Given the description of an element on the screen output the (x, y) to click on. 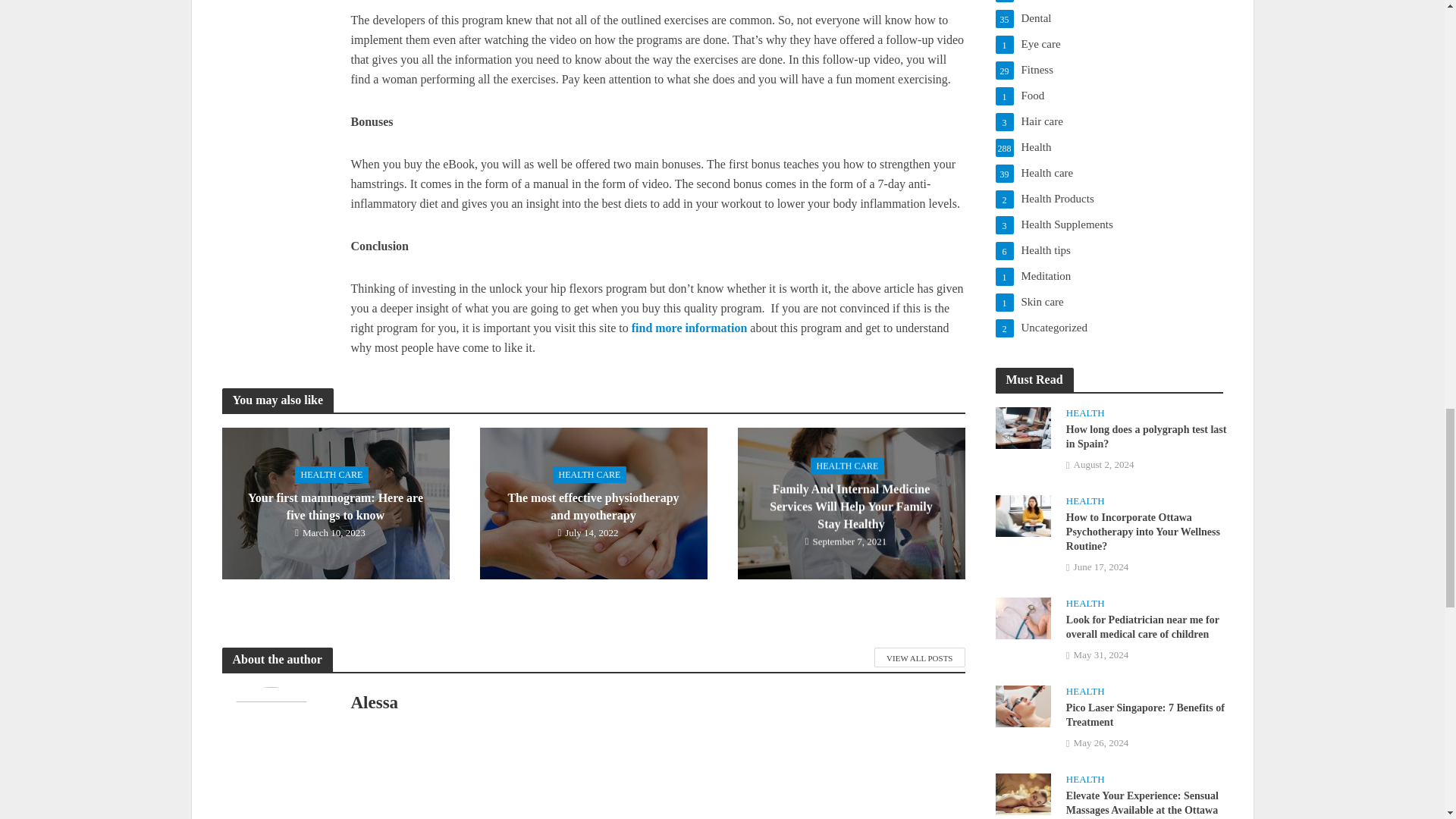
The most effective physiotherapy and myotherapy (592, 502)
How long does a polygraph test last in Spain? (1021, 426)
Your first mammogram: Here are five things to know (334, 502)
